Given the description of an element on the screen output the (x, y) to click on. 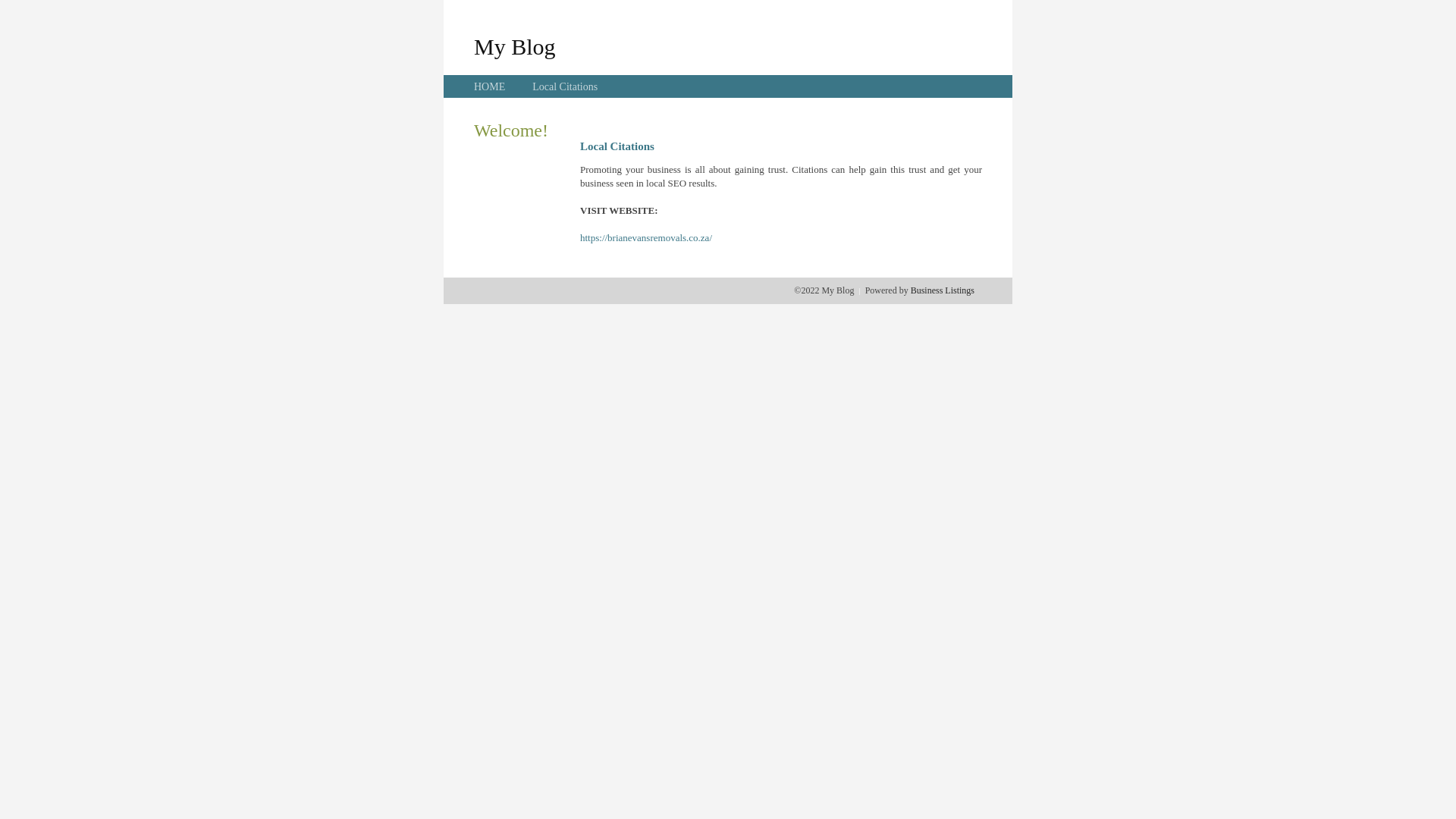
https://brianevansremovals.co.za/ Element type: text (646, 237)
Business Listings Element type: text (942, 290)
HOME Element type: text (489, 86)
Local Citations Element type: text (564, 86)
My Blog Element type: text (514, 46)
